Given the description of an element on the screen output the (x, y) to click on. 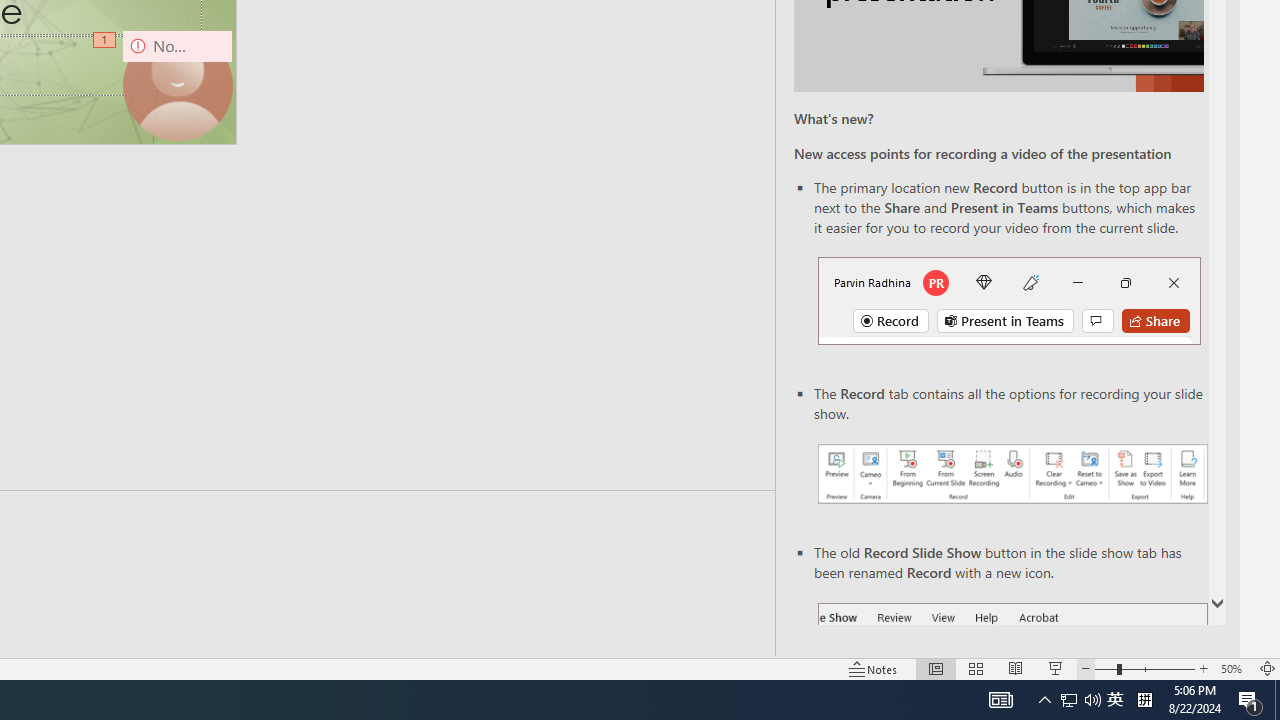
Zoom 50% (1234, 668)
